Given the description of an element on the screen output the (x, y) to click on. 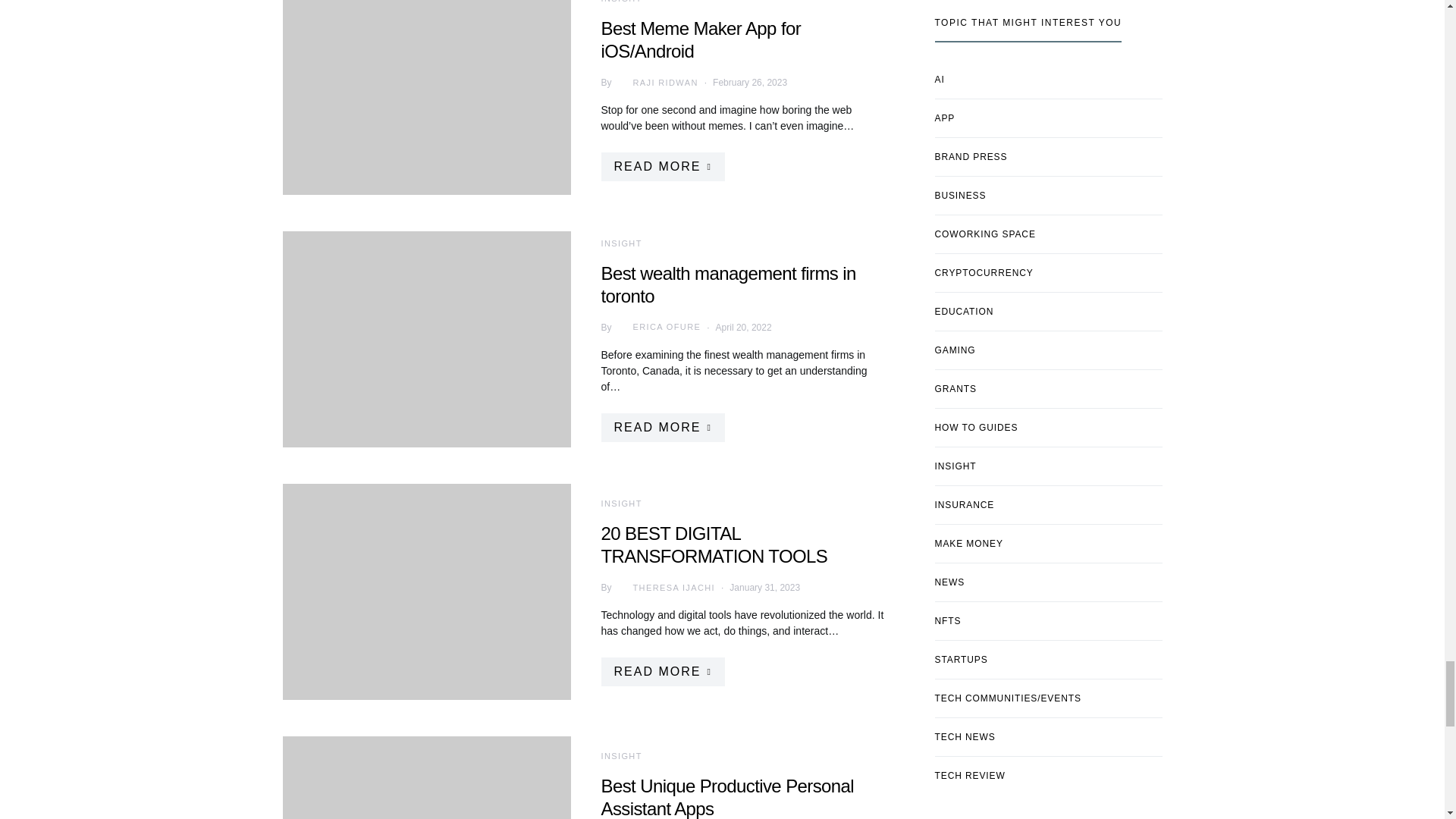
Best Unique Productive Personal Assistant Apps 9 (426, 777)
View all posts by Erica Ofure (656, 327)
20 BEST DIGITAL TRANSFORMATION TOOLS 8 (426, 592)
View all posts by Raji Ridwan (654, 82)
View all posts by Theresa Ijachi (663, 587)
Best wealth management firms in toronto 7 (426, 338)
